Given the description of an element on the screen output the (x, y) to click on. 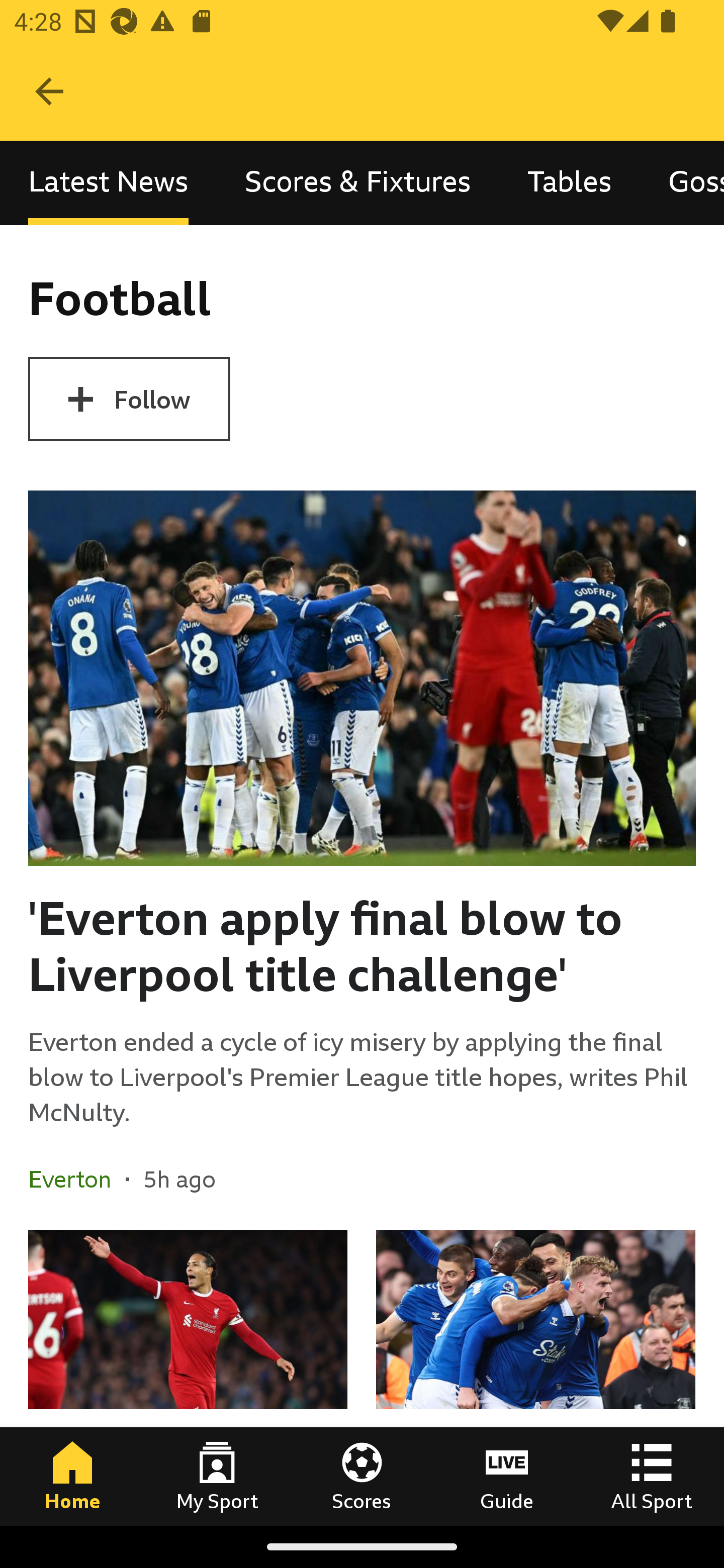
Navigate up (49, 91)
Latest News, selected Latest News (108, 183)
Scores & Fixtures (357, 183)
Tables (569, 183)
Follow Football Follow (129, 398)
Everton In the section Everton (76, 1178)
Van Dijk questions desire of team-mates after loss (188, 1377)
My Sport (216, 1475)
Scores (361, 1475)
Guide (506, 1475)
All Sport (651, 1475)
